Given the description of an element on the screen output the (x, y) to click on. 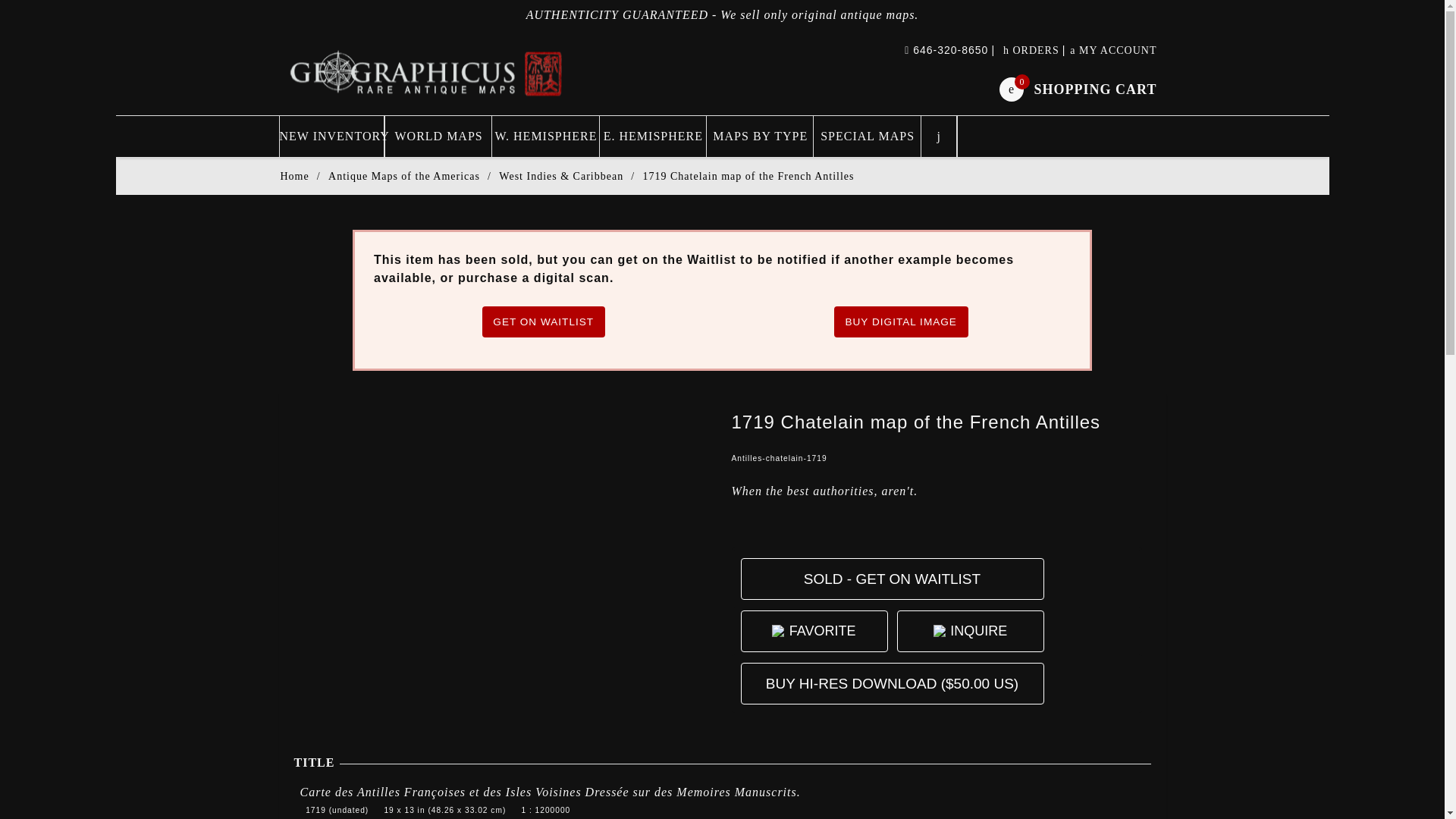
Home (1077, 88)
Geographicus Rare Antique Maps (294, 175)
Antique Maps of the Americas (427, 72)
INQUIRE (404, 175)
MY ACCOUNT (978, 630)
FAVORITE (1113, 50)
ORDERS (822, 630)
NEW INVENTORY (1031, 50)
SOLD - GET ON WAITLIST (331, 136)
Geographicus Rare Antique Maps (891, 578)
